Given the description of an element on the screen output the (x, y) to click on. 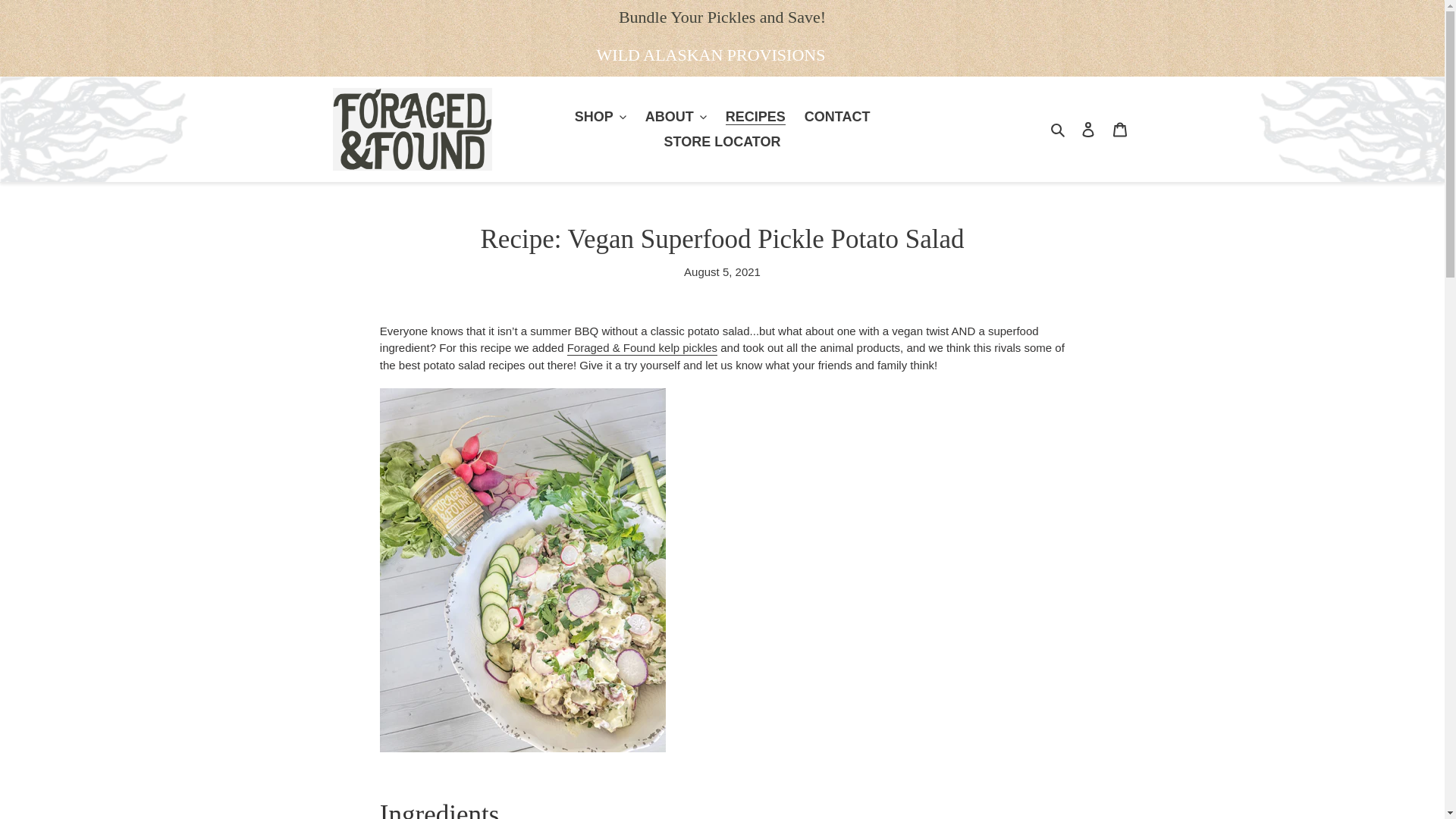
Search (1058, 128)
ABOUT (675, 116)
Bundle Your Pickles and Save! (721, 16)
RECIPES (755, 116)
Log in (1087, 129)
CONTACT (836, 116)
Pickles (642, 348)
Cart (1119, 129)
STORE LOCATOR (721, 140)
SHOP (600, 116)
